Given the description of an element on the screen output the (x, y) to click on. 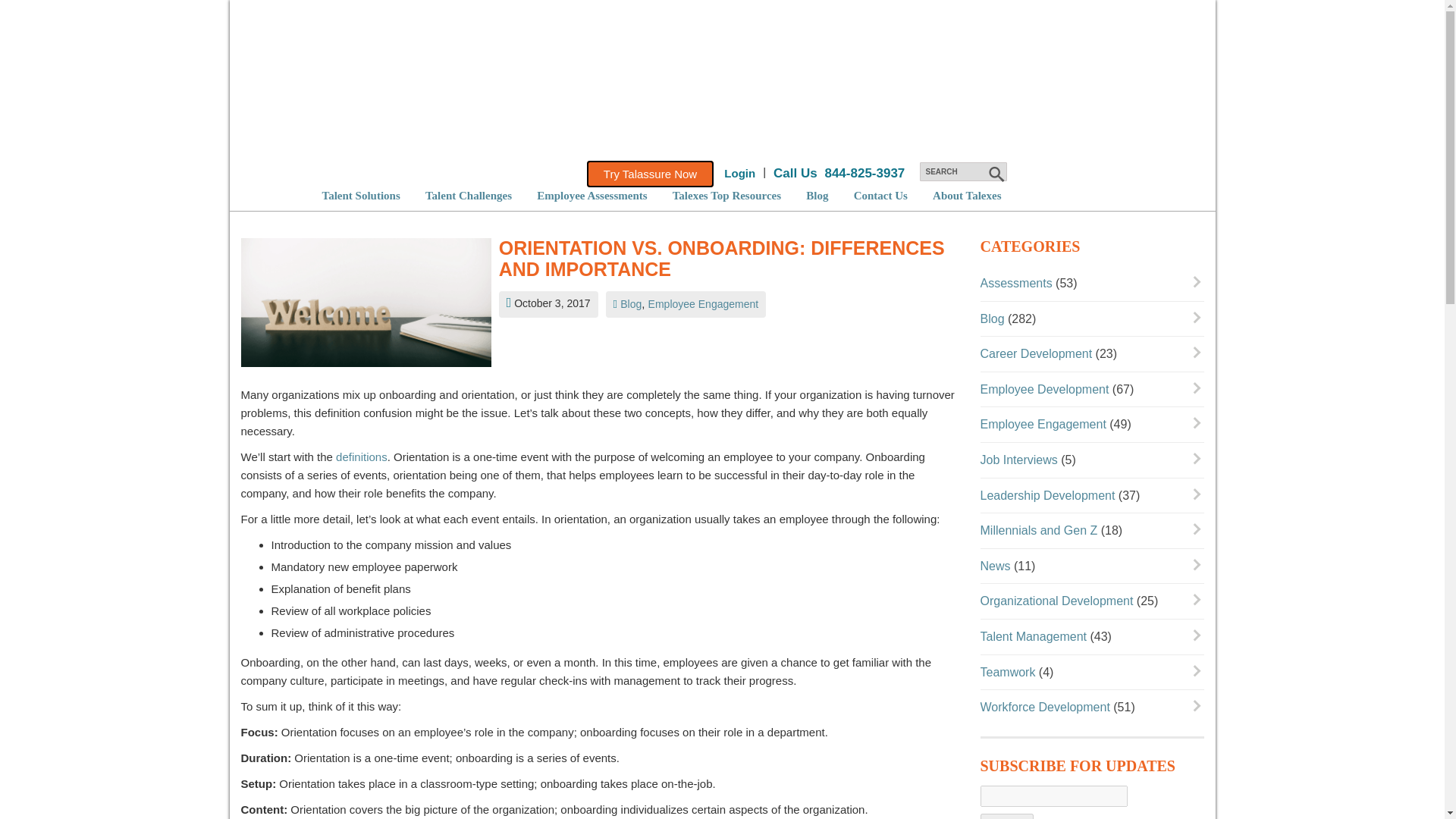
Orientation vs. Onboarding: Differences and Importance (728, 259)
SEARCH (962, 171)
submit (994, 173)
844-825-3937 (864, 173)
Subscribe (1006, 816)
Try Talassure Now (649, 173)
View all posts in Blog (631, 304)
Talent Solutions (359, 195)
Talent Challenges (468, 195)
Orientation vs. Onboarding: Differences and Importance (366, 306)
Login (739, 172)
submit (994, 173)
View all posts in Employee Engagement (702, 304)
